Given the description of an element on the screen output the (x, y) to click on. 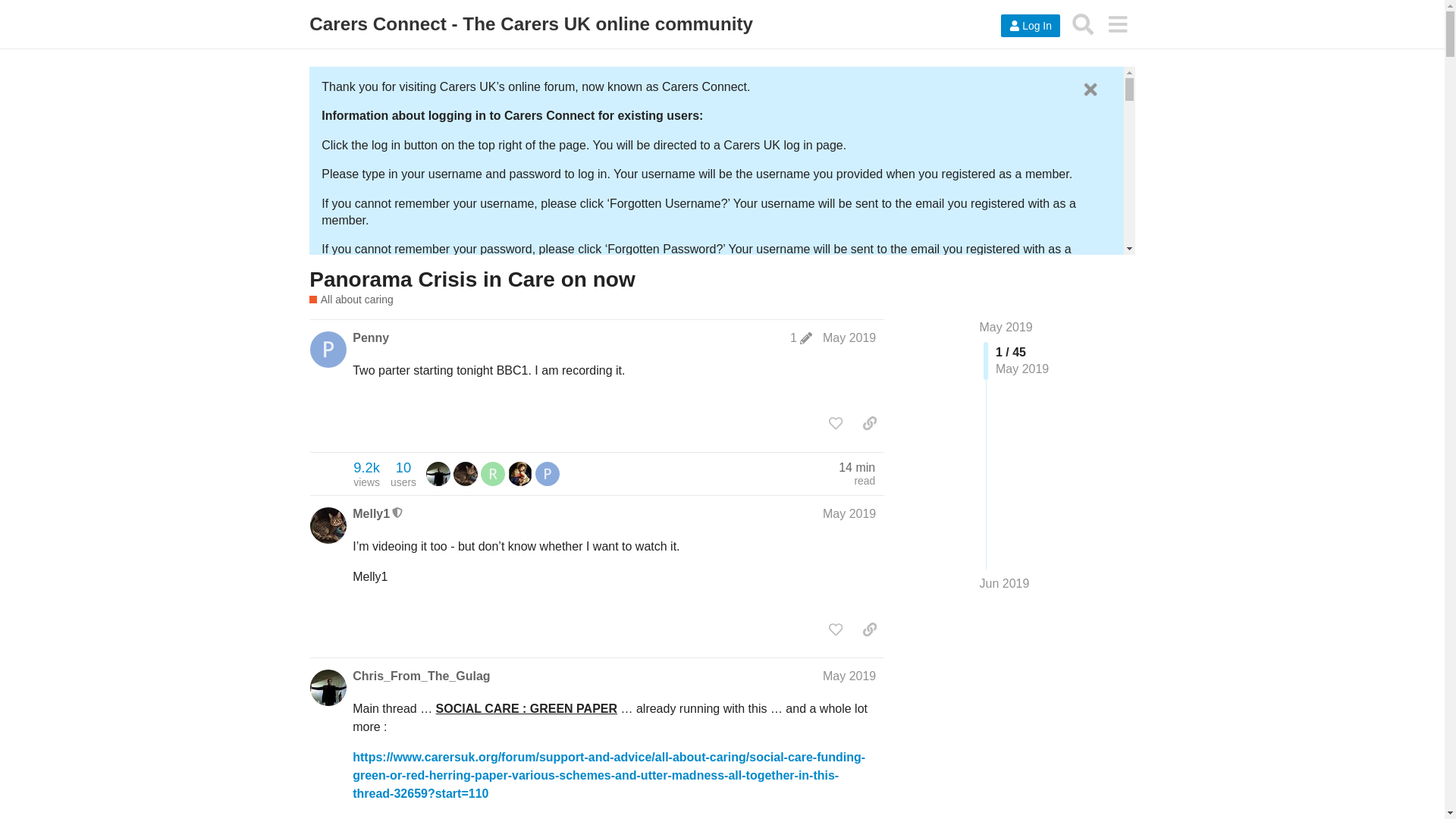
Post date (849, 337)
menu (1117, 23)
Jump to the last post (1004, 583)
Dismiss this banner (1090, 88)
May 2019 (366, 473)
post last edited on 24 Dec 2022 01:34 (849, 337)
visit the forum page (801, 337)
Search (888, 341)
May 2019 (1082, 23)
All about caring (1005, 327)
1 (350, 299)
Jump to the first post (801, 337)
Carers Connect - The Carers UK online community (1005, 327)
Discourse New User Guide - users - Docs - Discourse Meta (530, 23)
